Given the description of an element on the screen output the (x, y) to click on. 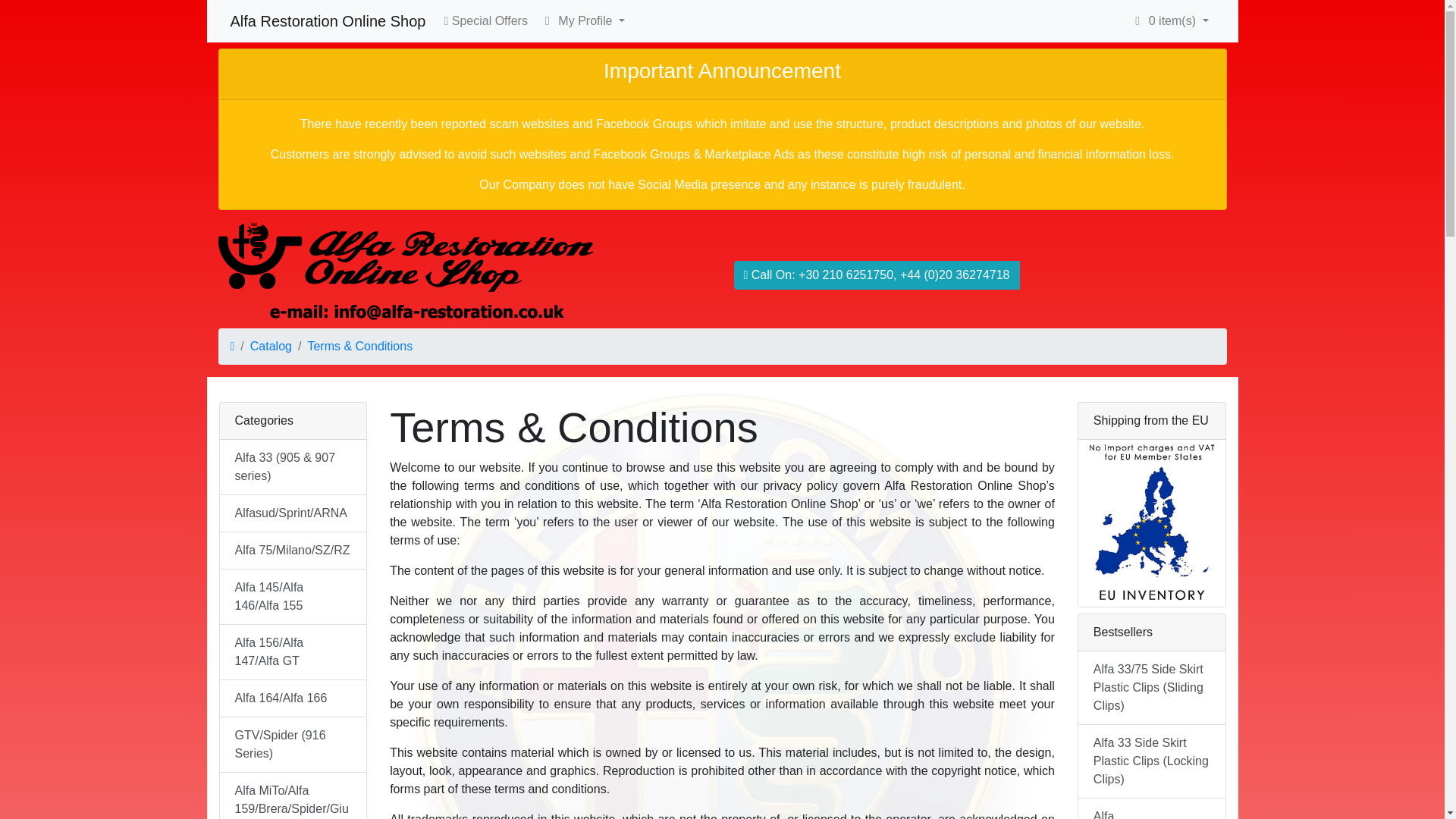
Shopping Cart (1136, 21)
Alfa Restoration Online Shop (328, 20)
Special Offers (485, 20)
My Profile (547, 21)
My Profile (582, 20)
Alfa Restoration Online Shop (406, 274)
Catalog (271, 345)
